Given the description of an element on the screen output the (x, y) to click on. 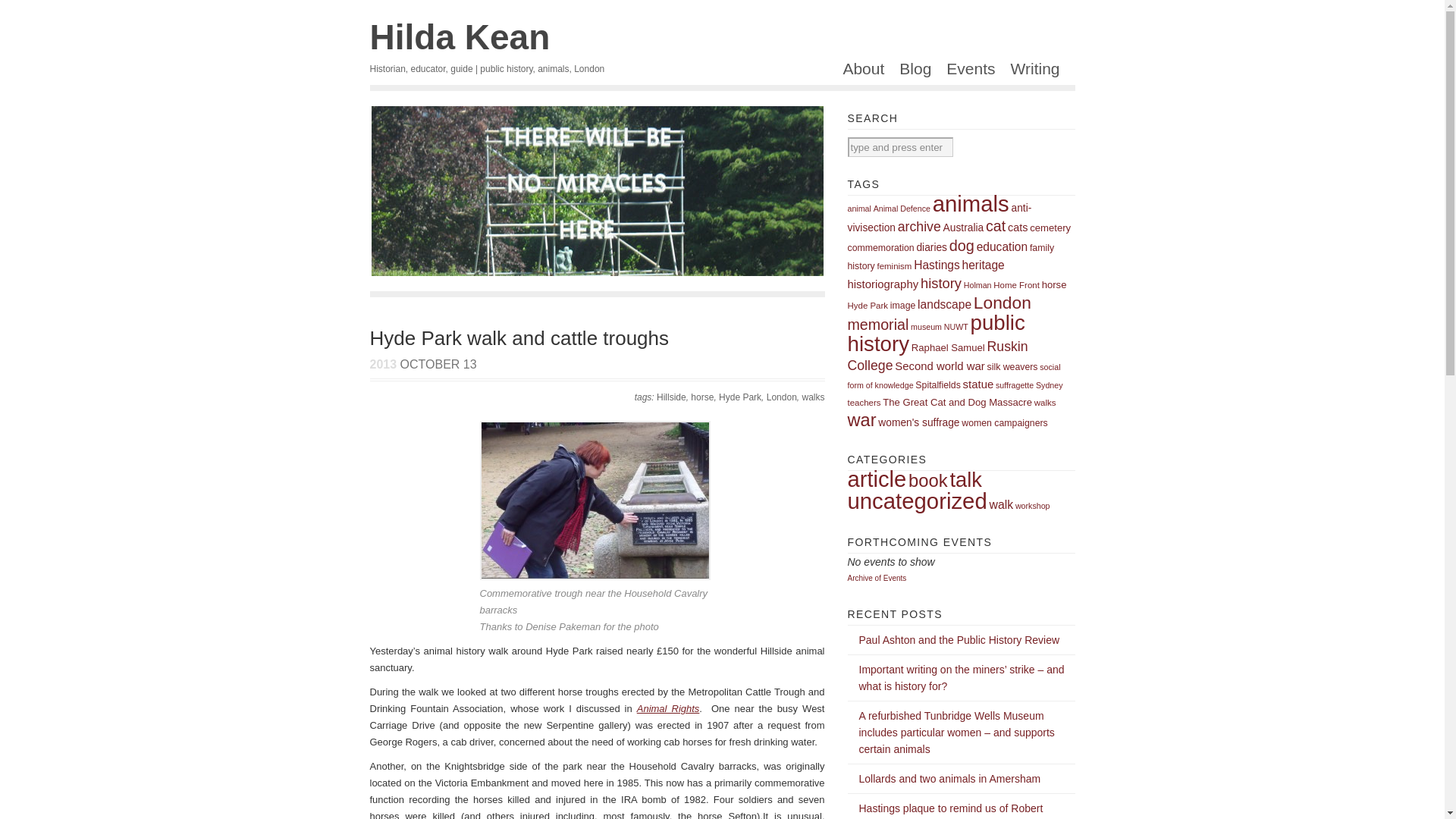
horse (701, 397)
Hillside (670, 397)
animals (971, 203)
Events (966, 72)
Animal Rights (668, 708)
cat (995, 225)
Australia (963, 227)
type and press enter (900, 147)
anti-vivisection (939, 217)
Hyde Park (740, 397)
animal (858, 207)
Nathan Coley's artwork, Edinburgh Festival, 2012 (597, 191)
About (858, 72)
London (781, 397)
walks (813, 397)
